Given the description of an element on the screen output the (x, y) to click on. 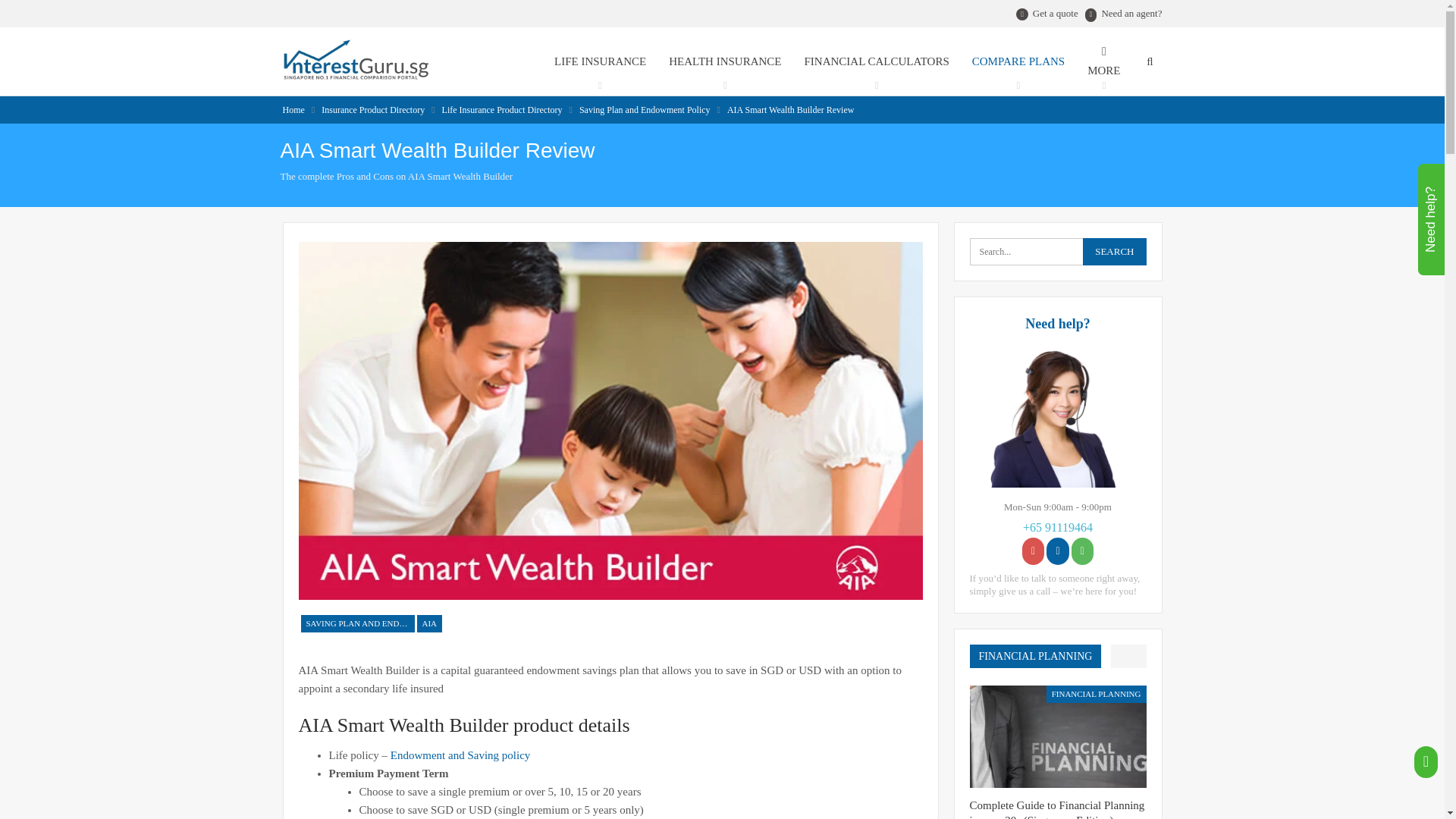
LIFE INSURANCE (600, 61)
Search (1114, 251)
Need an agent? (1122, 12)
Search (1114, 251)
HEALTH INSURANCE (725, 61)
Get a quote (1055, 12)
FINANCIAL CALCULATORS (875, 61)
